Given the description of an element on the screen output the (x, y) to click on. 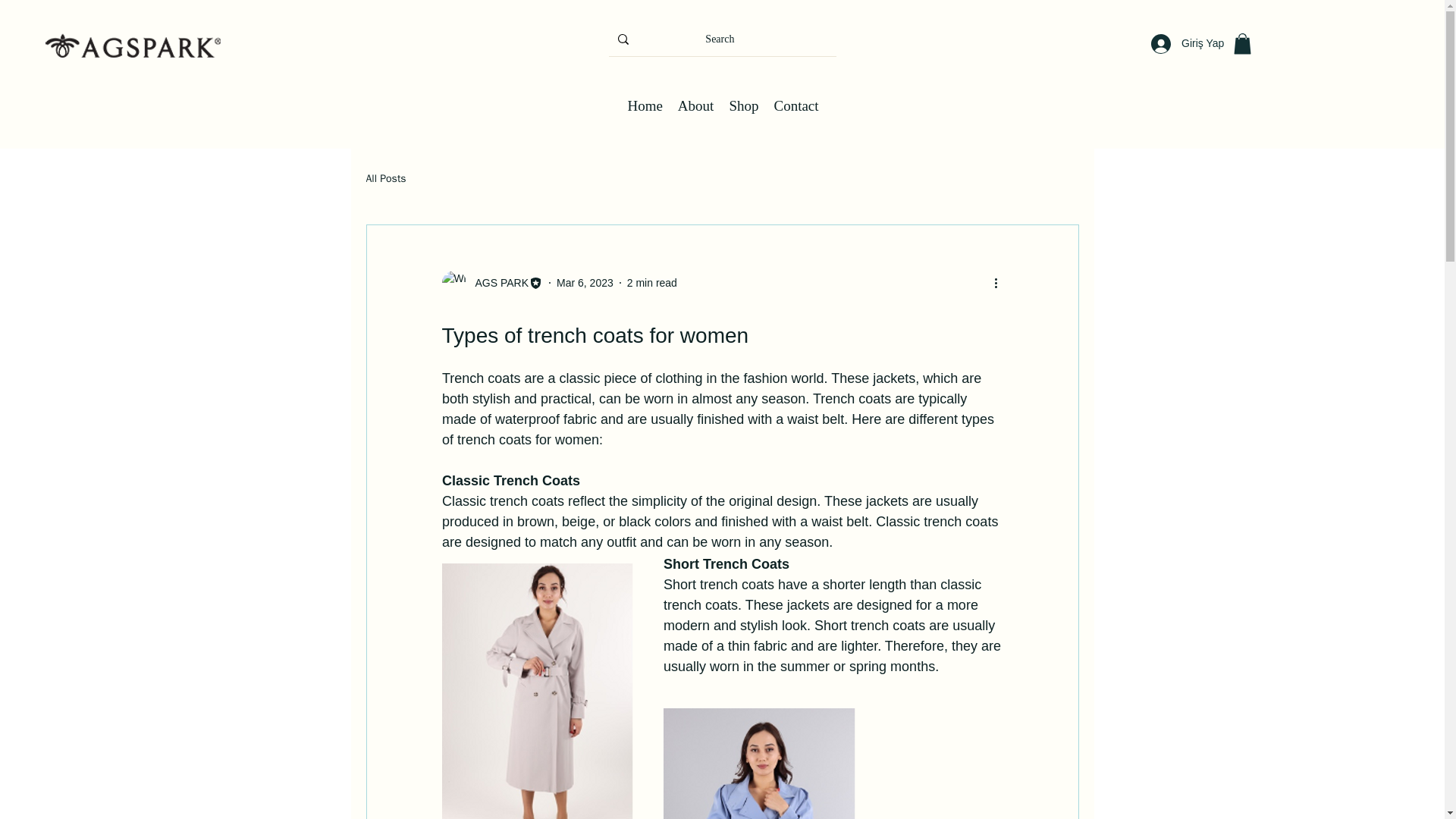
Mar 6, 2023 (584, 282)
Contact (795, 105)
Shop (742, 105)
2 min read (652, 282)
All Posts (385, 178)
About (694, 105)
AGS PARK (496, 283)
AGS PARK (492, 282)
Home (644, 105)
